Given the description of an element on the screen output the (x, y) to click on. 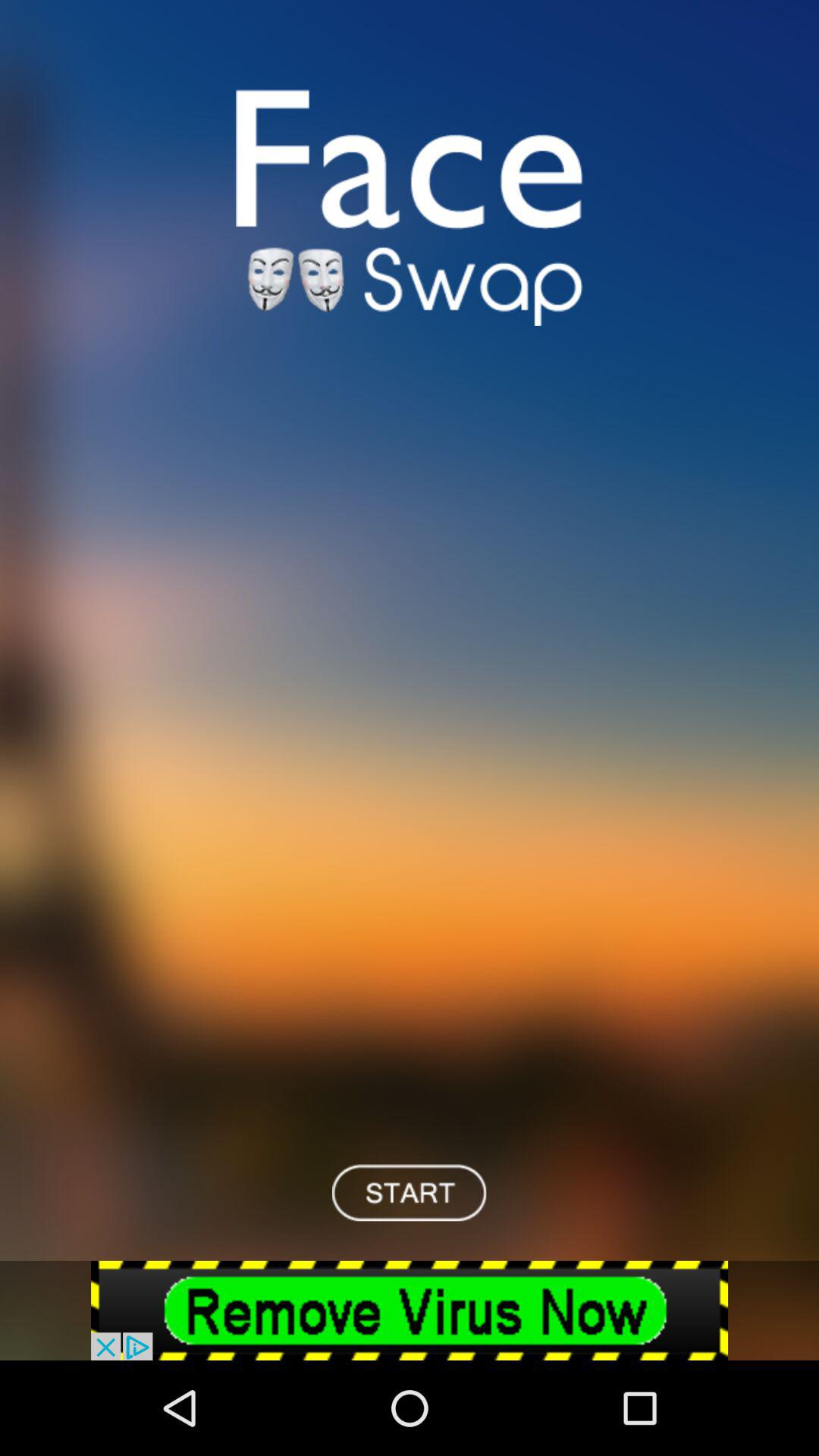
start app (409, 1192)
